Given the description of an element on the screen output the (x, y) to click on. 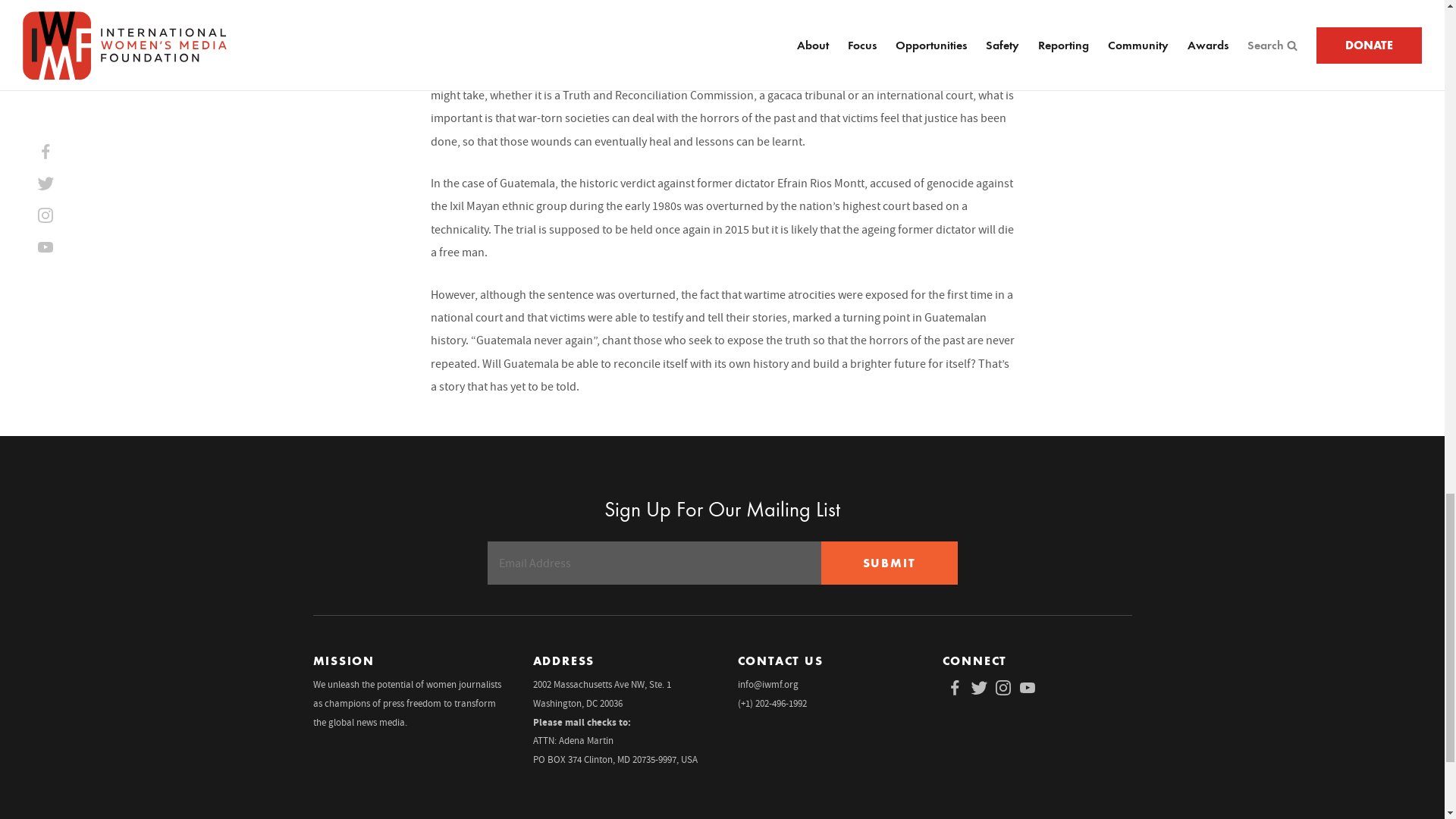
Submit (888, 562)
